Given the description of an element on the screen output the (x, y) to click on. 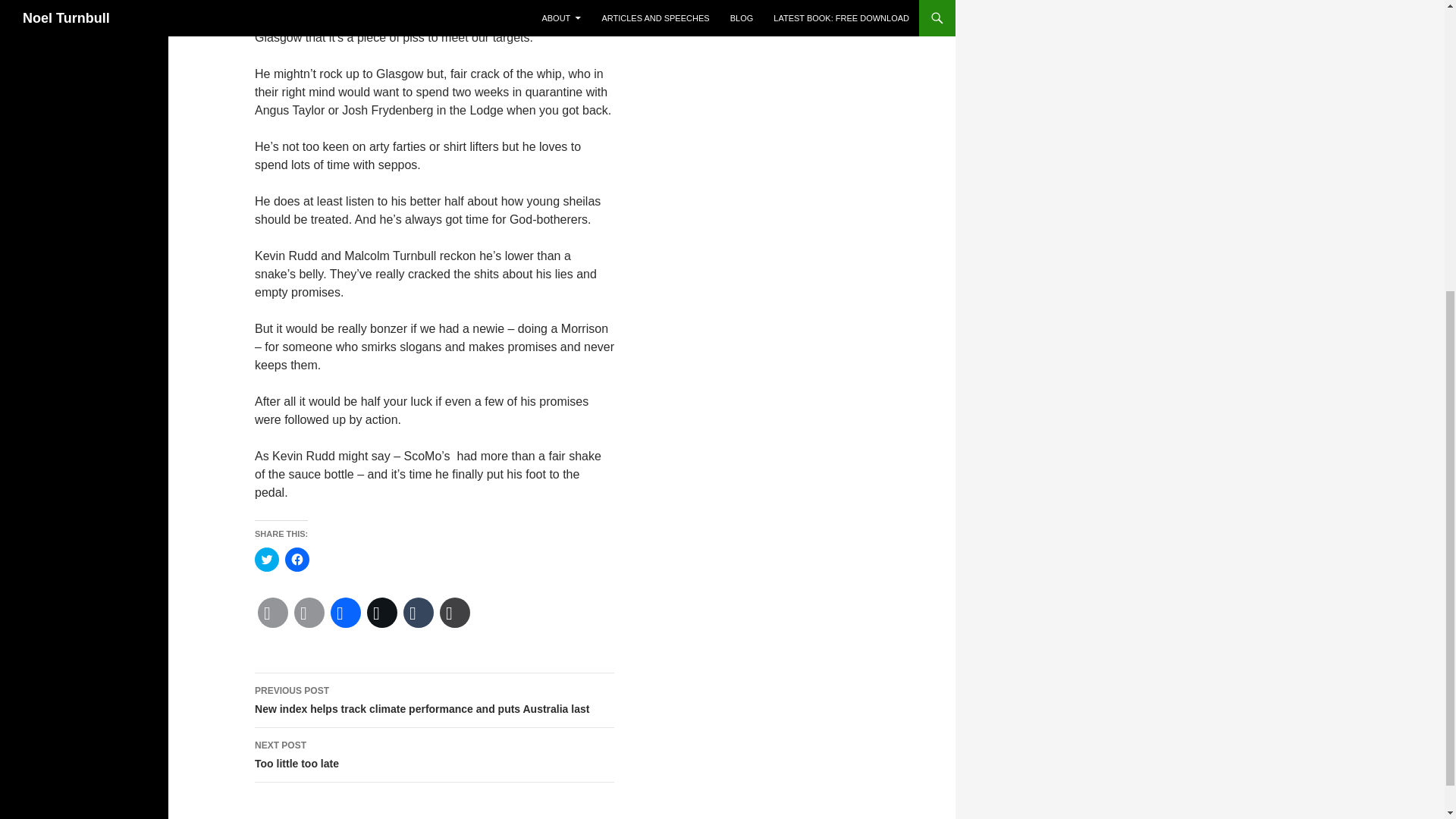
Tumblr (418, 612)
Facebook (345, 612)
Click to share on Twitter (434, 755)
Instapaper (266, 559)
Mail (454, 612)
Click to share on Facebook (309, 612)
Email This (296, 559)
